Given the description of an element on the screen output the (x, y) to click on. 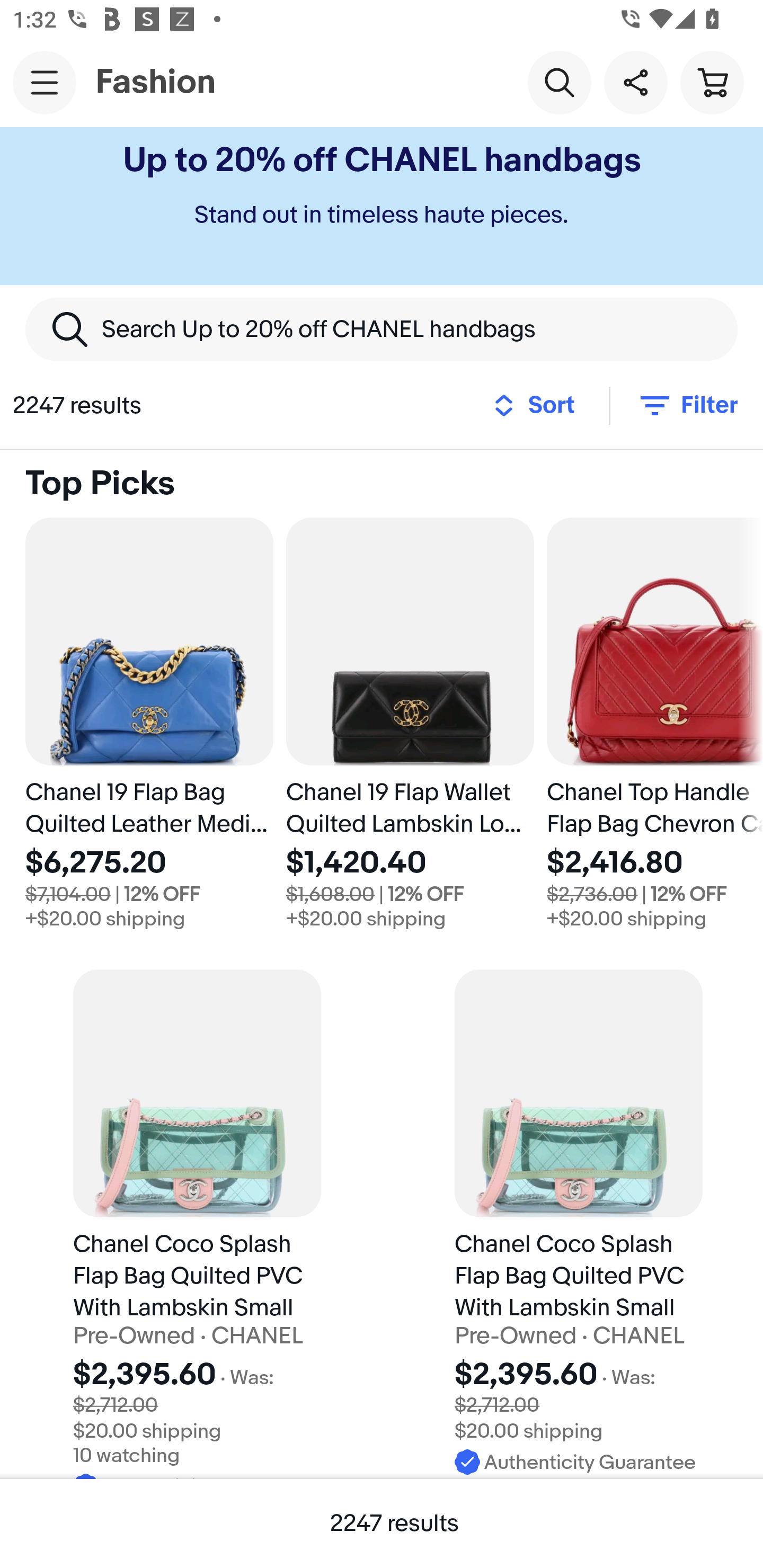
Main navigation, open (44, 82)
Search (559, 81)
Share this page (635, 81)
Cart button shopping cart (711, 81)
Search Up to 20% off CHANEL handbags (381, 328)
Sort (538, 405)
Filter (686, 405)
